Given the description of an element on the screen output the (x, y) to click on. 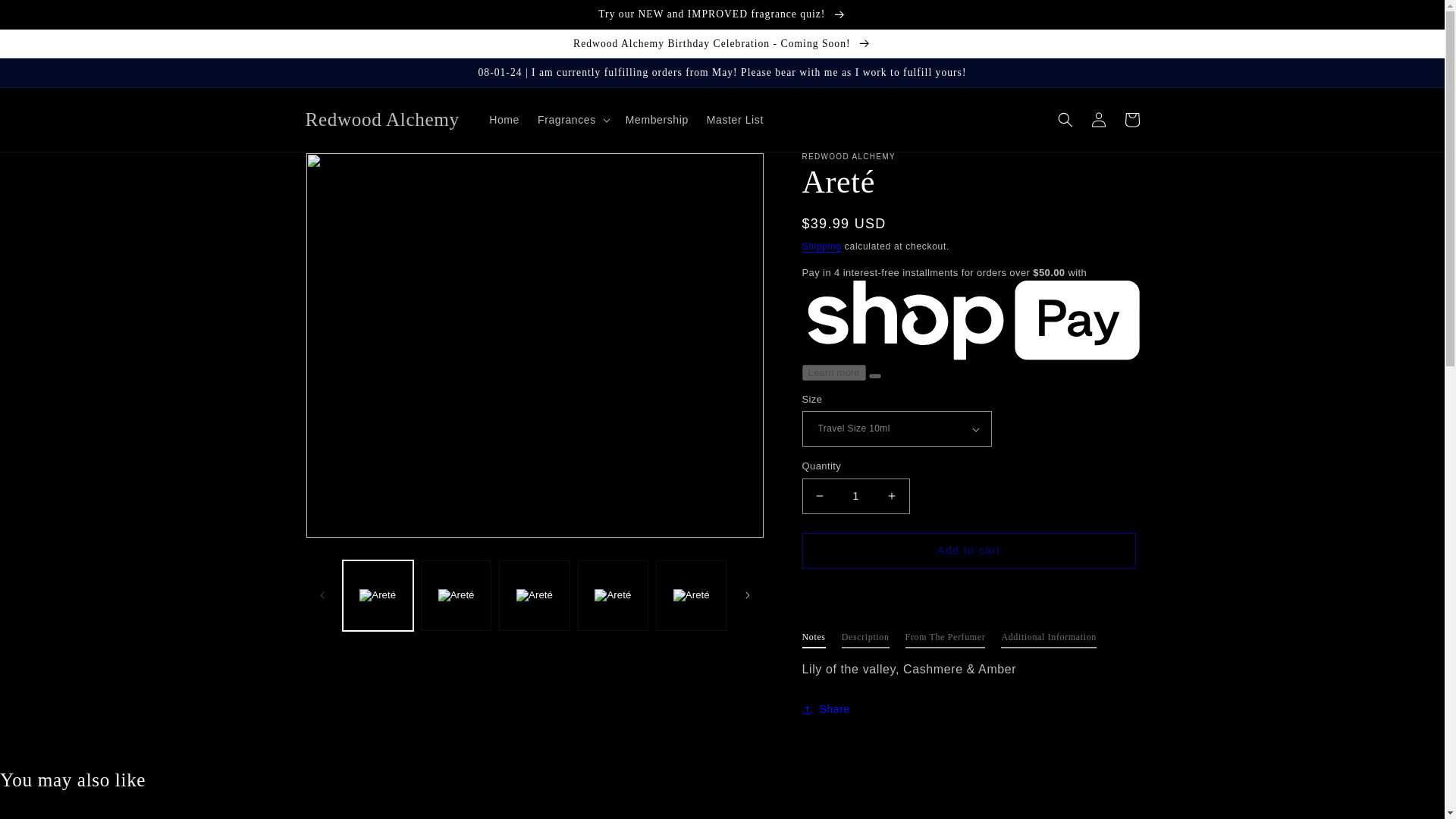
1 (856, 496)
Redwood Alchemy (381, 119)
Home (504, 119)
Skip to content (45, 17)
